Given the description of an element on the screen output the (x, y) to click on. 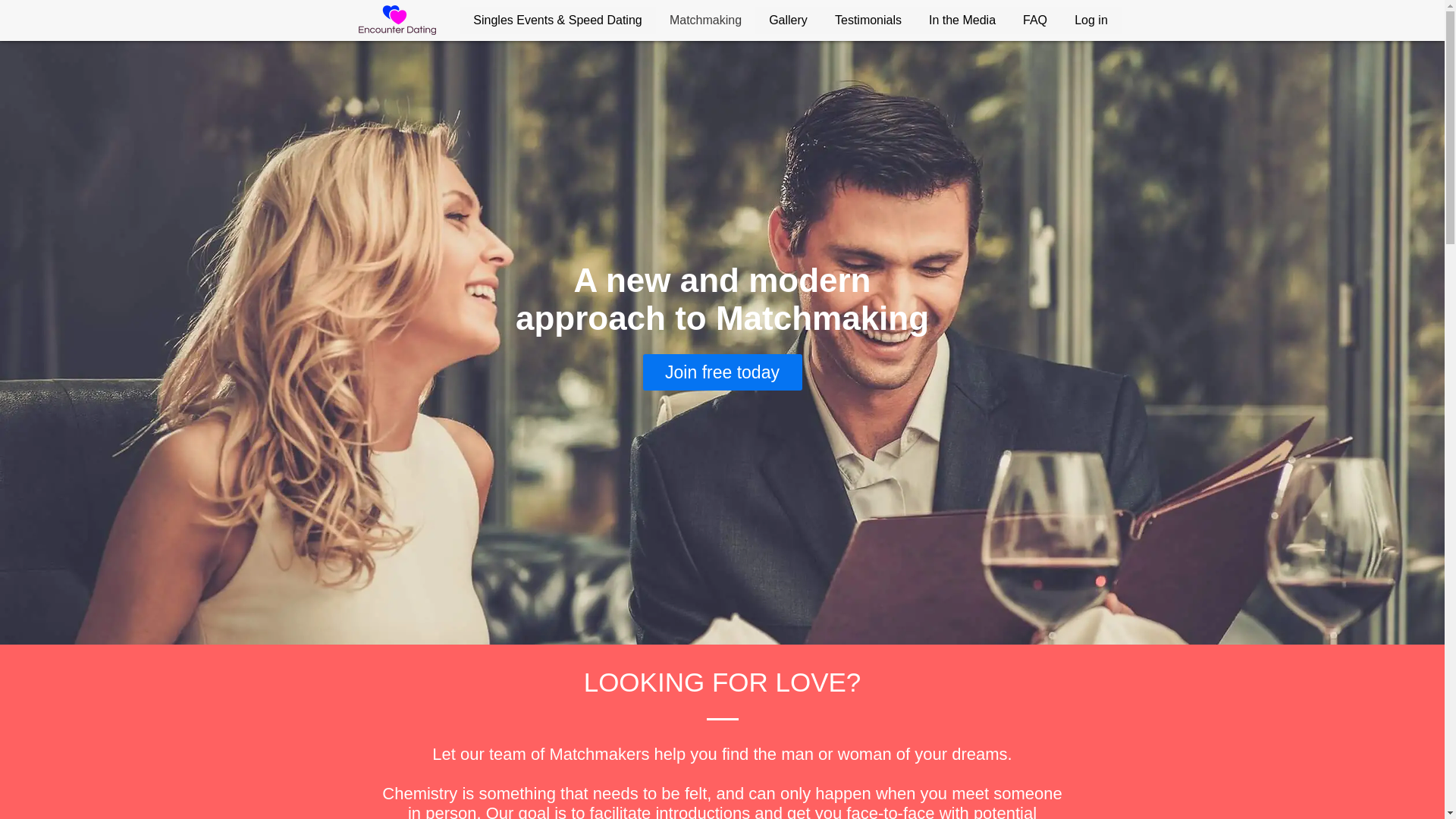
FAQ Element type: text (1034, 20)
Log in Element type: text (1090, 20)
Join free today Element type: text (722, 372)
Matchmaking Element type: text (704, 20)
Testimonials Element type: text (867, 20)
Gallery Element type: text (788, 20)
In the Media Element type: text (961, 20)
